Given the description of an element on the screen output the (x, y) to click on. 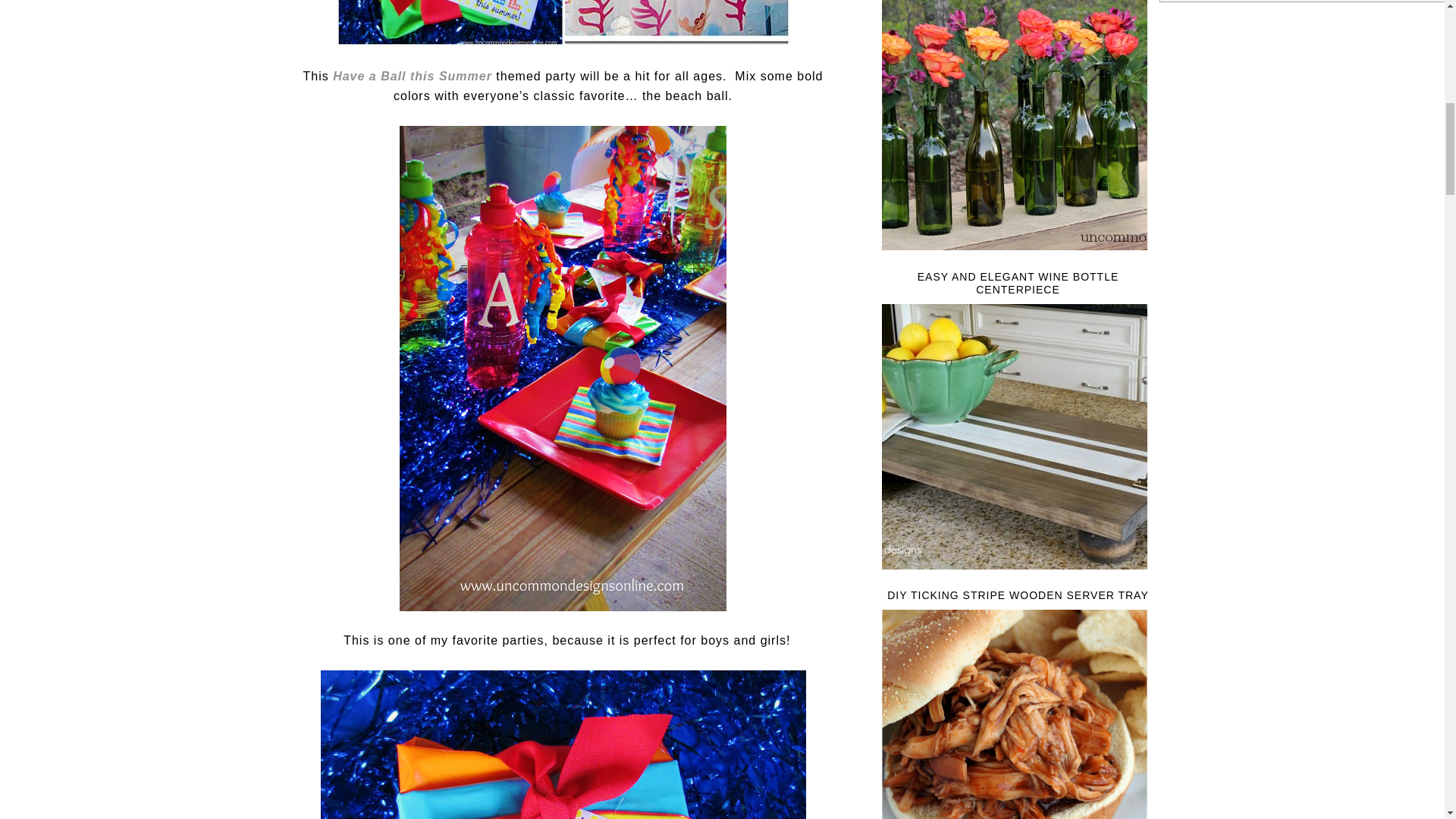
Summer Beach Ball theme party favor from Uncommon Designs. (562, 744)
Have a Ball this Summer Party for Kids (414, 75)
